Given the description of an element on the screen output the (x, y) to click on. 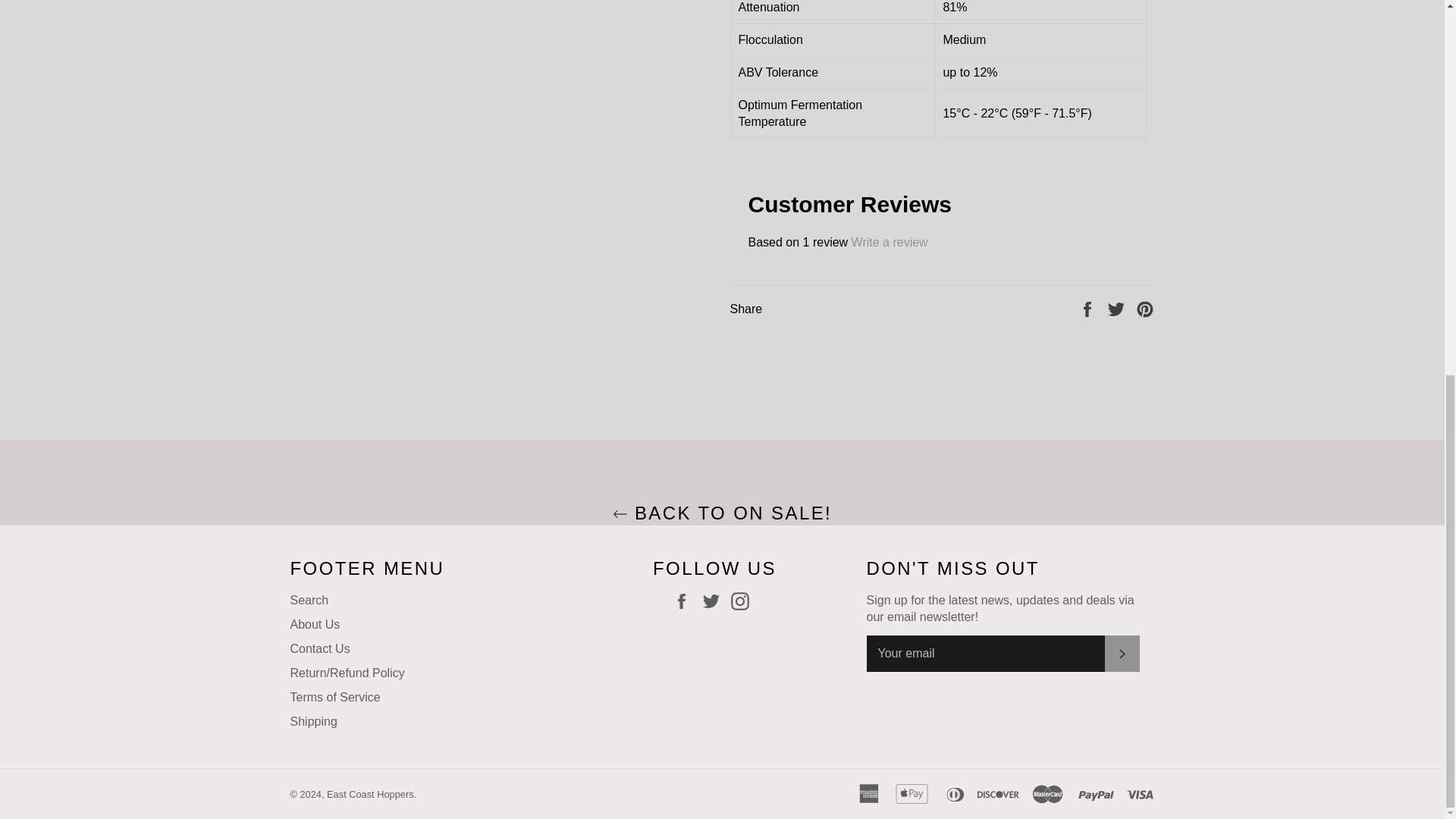
East Coast Hoppers on Facebook (685, 601)
East Coast Hoppers on Twitter (714, 601)
East Coast Hoppers on Instagram (743, 601)
Pin on Pinterest (1144, 308)
Tweet on Twitter (1117, 308)
Share on Facebook (1088, 308)
